Given the description of an element on the screen output the (x, y) to click on. 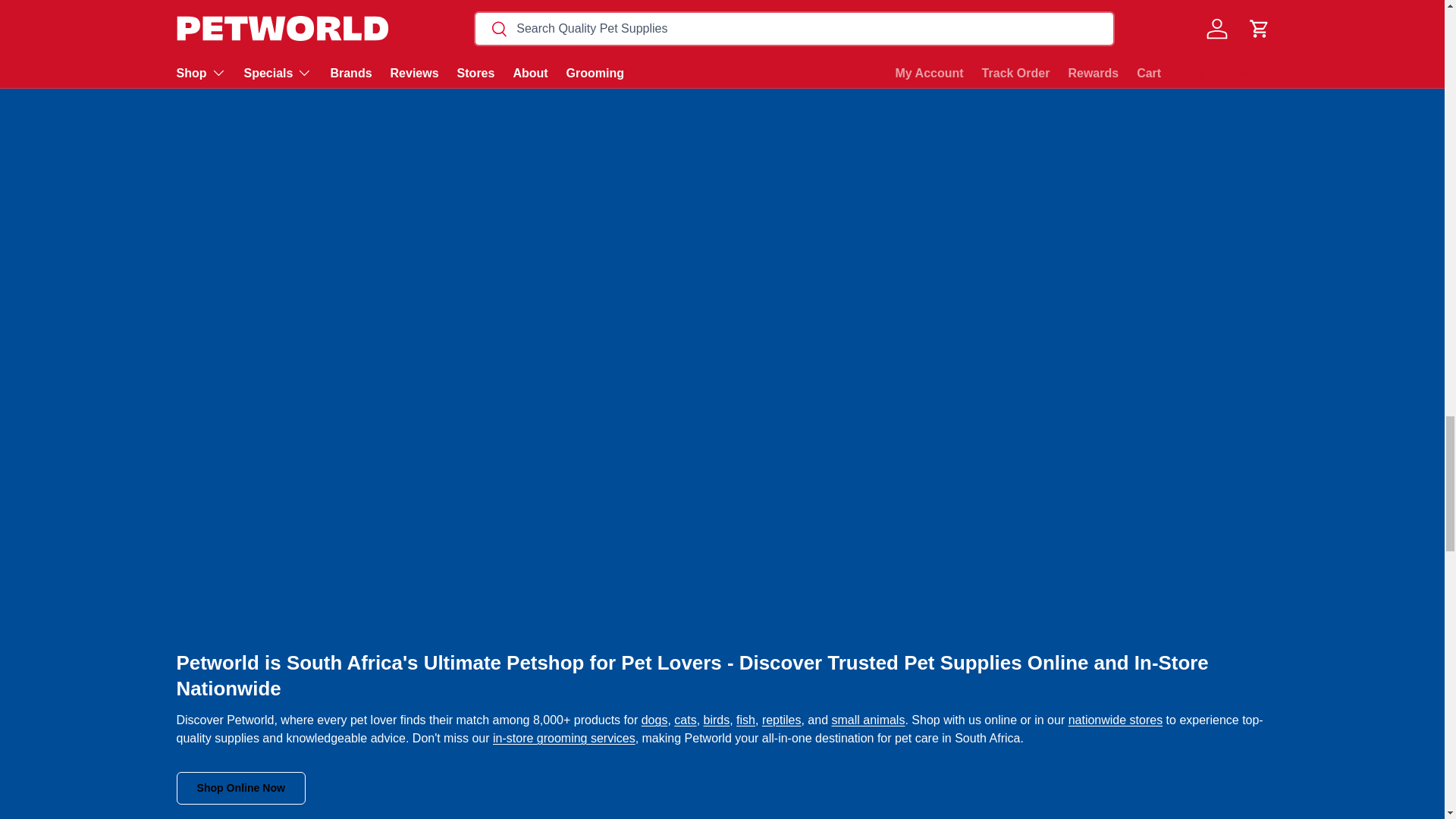
Stores (1115, 719)
All Reptile Products (781, 719)
Grooming (563, 738)
All Bird Products (716, 719)
All Small Pet Products (867, 719)
All Fish Products (745, 719)
All Cat Products (684, 719)
All Dog Products (655, 719)
